Given the description of an element on the screen output the (x, y) to click on. 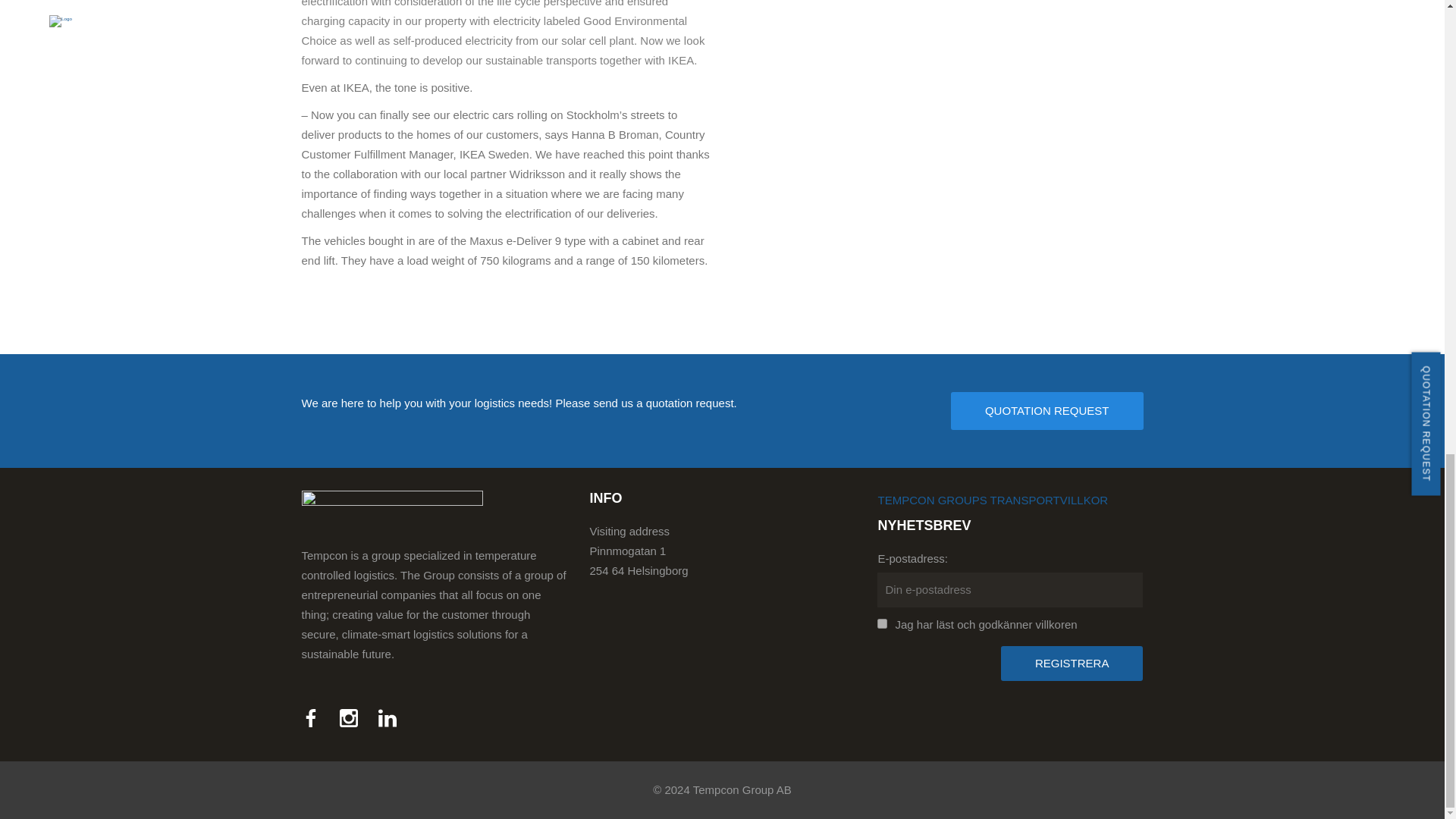
Registrera (1071, 663)
QUOTATION REQUEST (1046, 410)
TEMPCON GROUPS TRANSPORTVILLKOR (992, 499)
Registrera (1071, 663)
1 (881, 623)
